Given the description of an element on the screen output the (x, y) to click on. 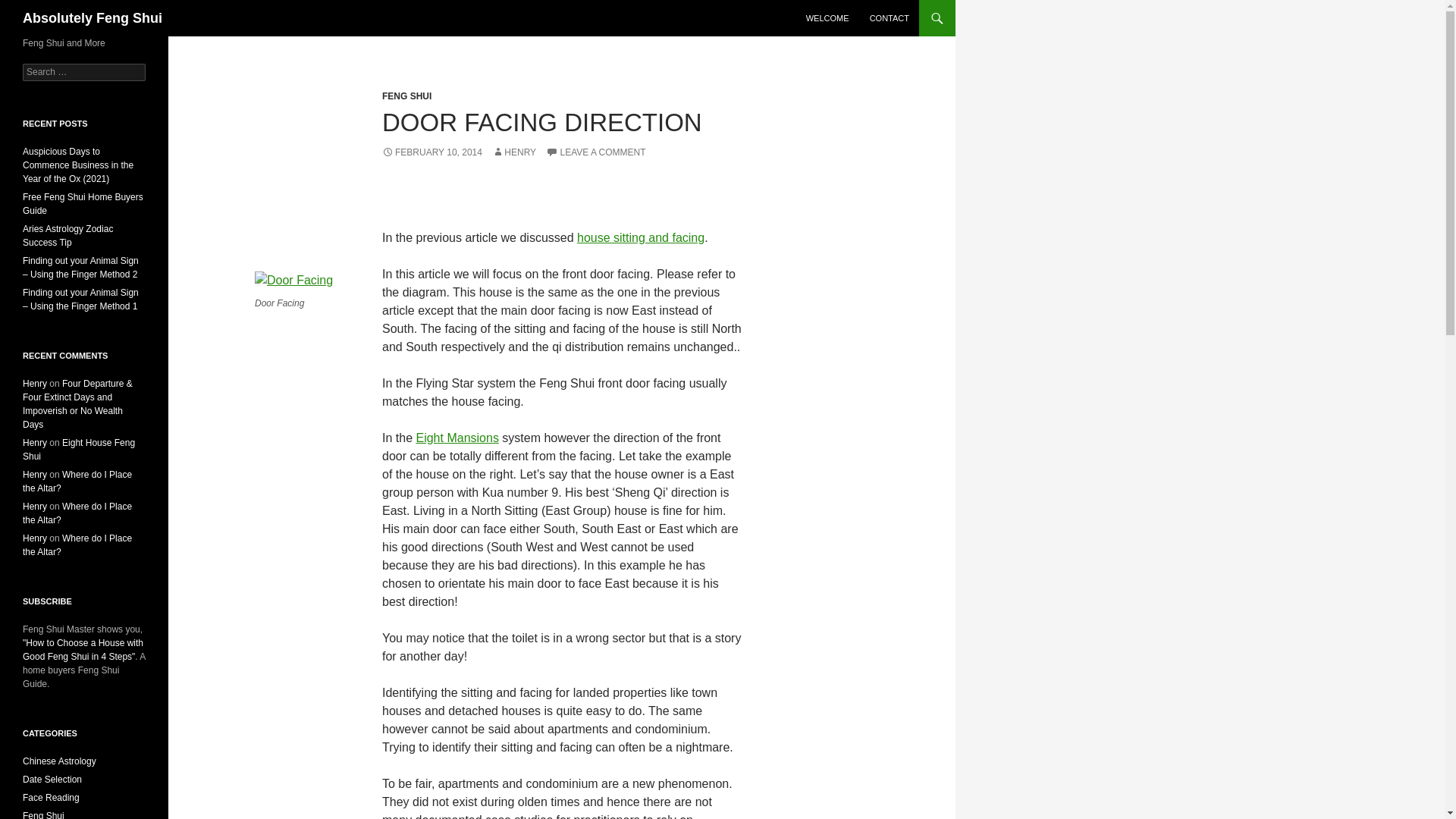
Henry (34, 383)
FENG SHUI (405, 95)
Date Selection (52, 778)
Eight Mansions (455, 437)
Henry (34, 442)
Henry (34, 506)
house sitting and facing (640, 237)
Feng Shui: The Eight Mansions and Flying Star (455, 437)
Henry (34, 474)
Absolutely Feng Shui (92, 18)
CONTACT (889, 18)
HENRY (513, 152)
LEAVE A COMMENT (595, 152)
Where do I Place the Altar? (77, 545)
Search (30, 8)
